Given the description of an element on the screen output the (x, y) to click on. 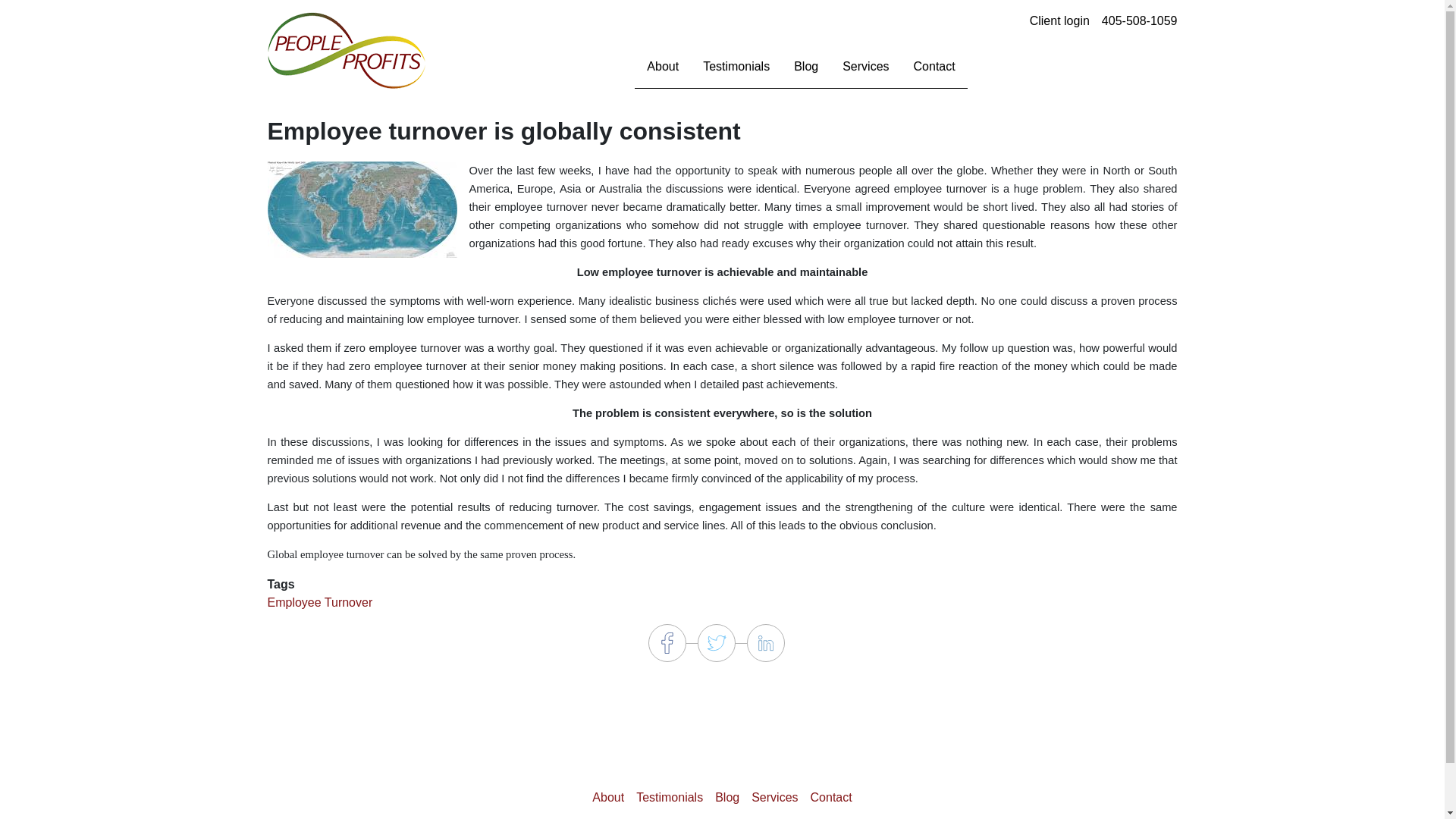
Testimonials (735, 66)
Contact (830, 797)
Testimonials (669, 797)
About (608, 797)
Services (865, 66)
Services (774, 797)
Blog (805, 66)
Employee Turnover (319, 602)
Contact (934, 66)
Employee turnover is globally consistent (361, 208)
